Given the description of an element on the screen output the (x, y) to click on. 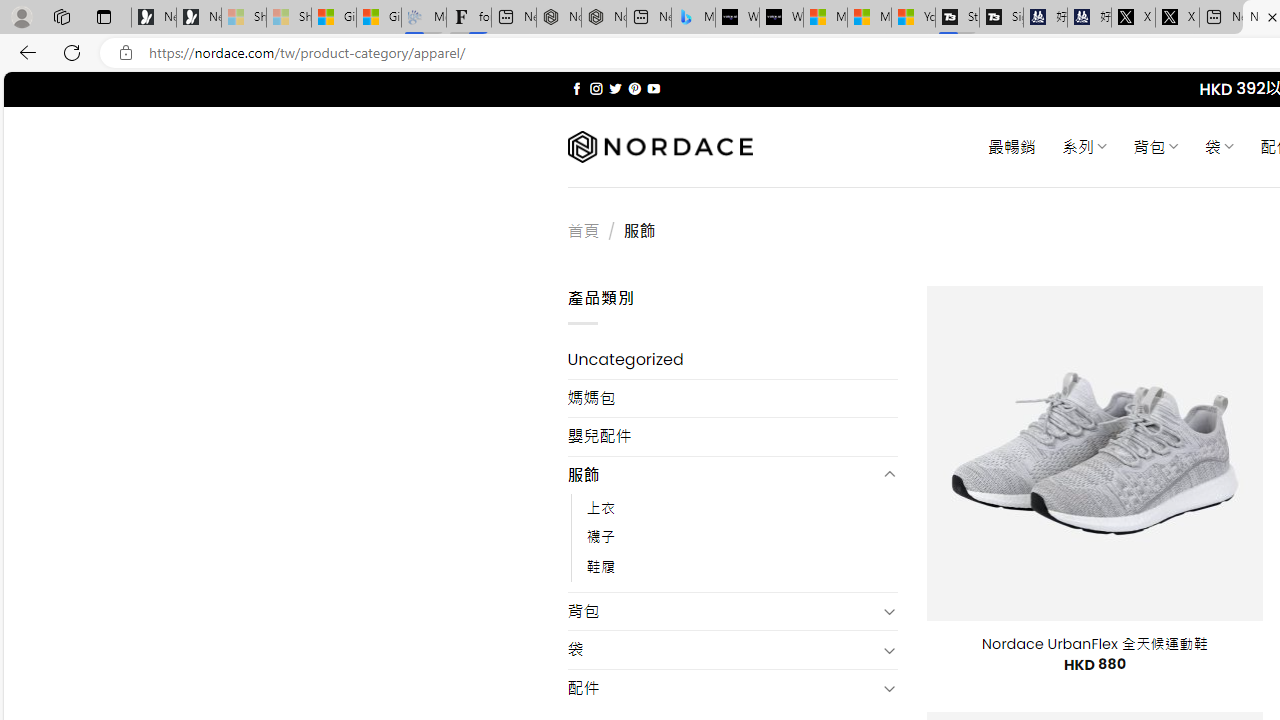
Follow on Pinterest (634, 88)
Follow on Twitter (615, 88)
Follow on YouTube (653, 88)
